Given the description of an element on the screen output the (x, y) to click on. 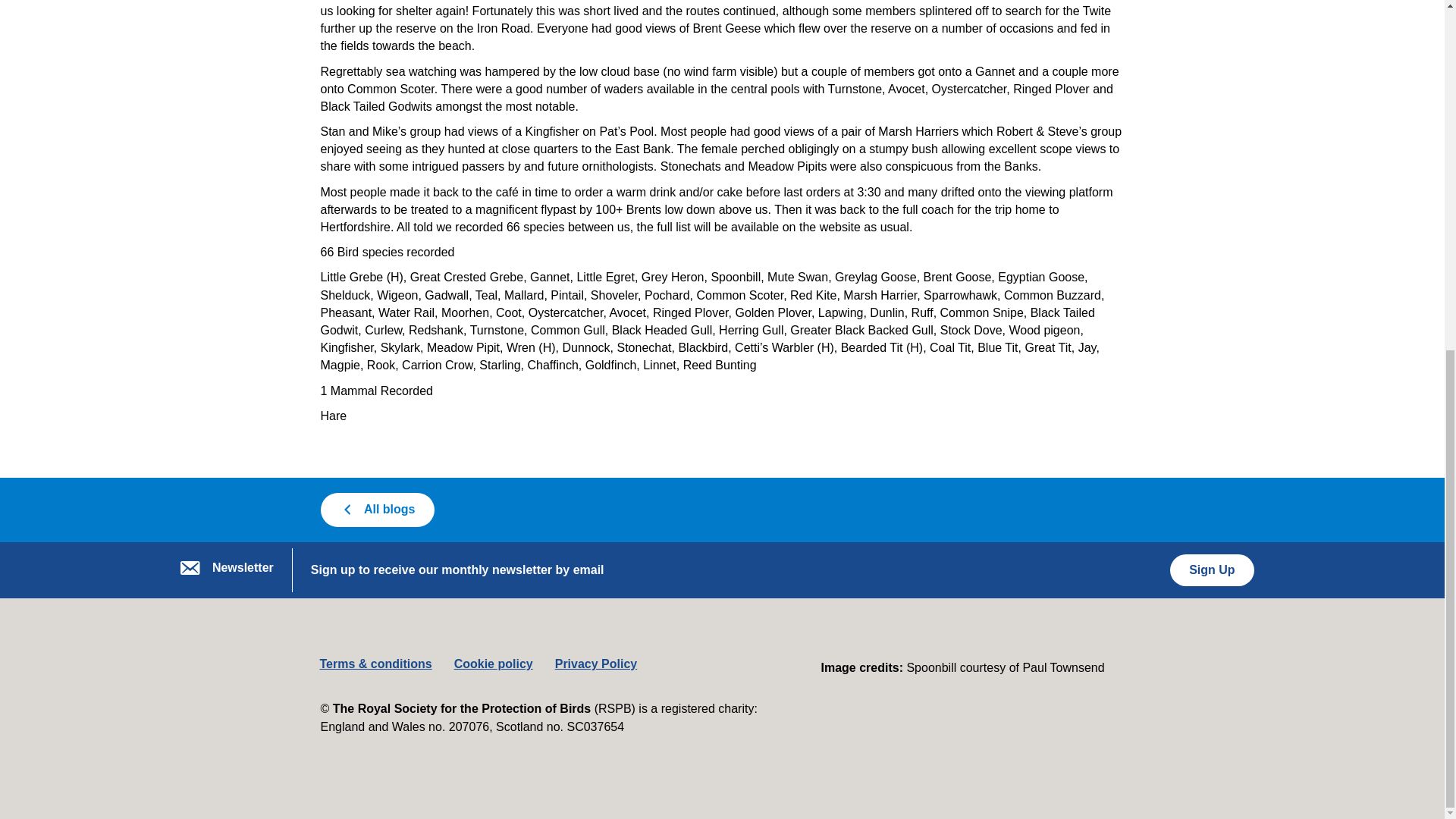
All blogs (376, 510)
Privacy Policy (595, 663)
Cookie policy (493, 663)
Sign Up (1211, 570)
